Given the description of an element on the screen output the (x, y) to click on. 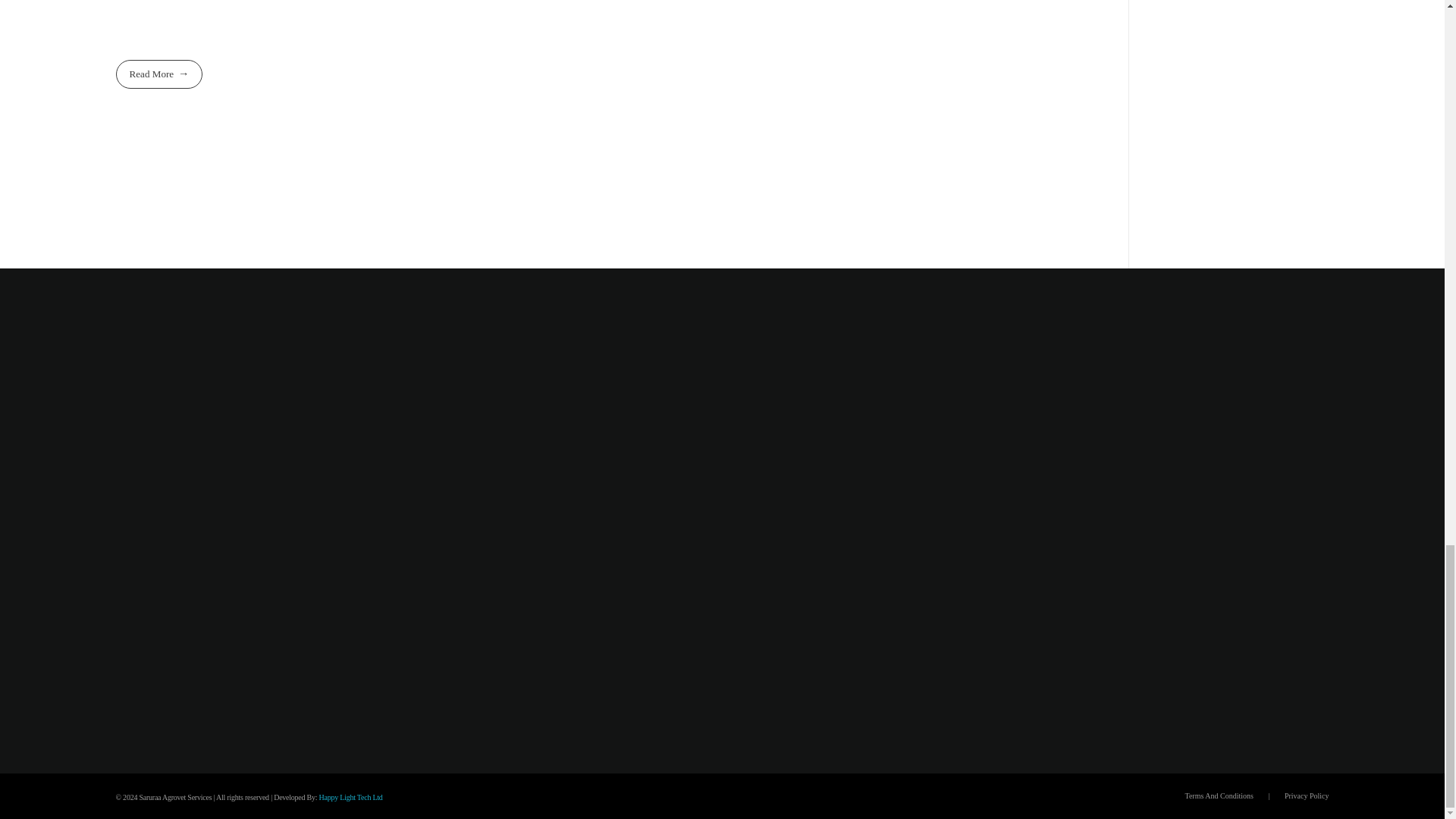
Happy Light Tech Ltd (350, 797)
Privacy Policy (1306, 796)
subscribe (1236, 424)
Read More (158, 73)
Terms And Conditions (1218, 796)
